Given the description of an element on the screen output the (x, y) to click on. 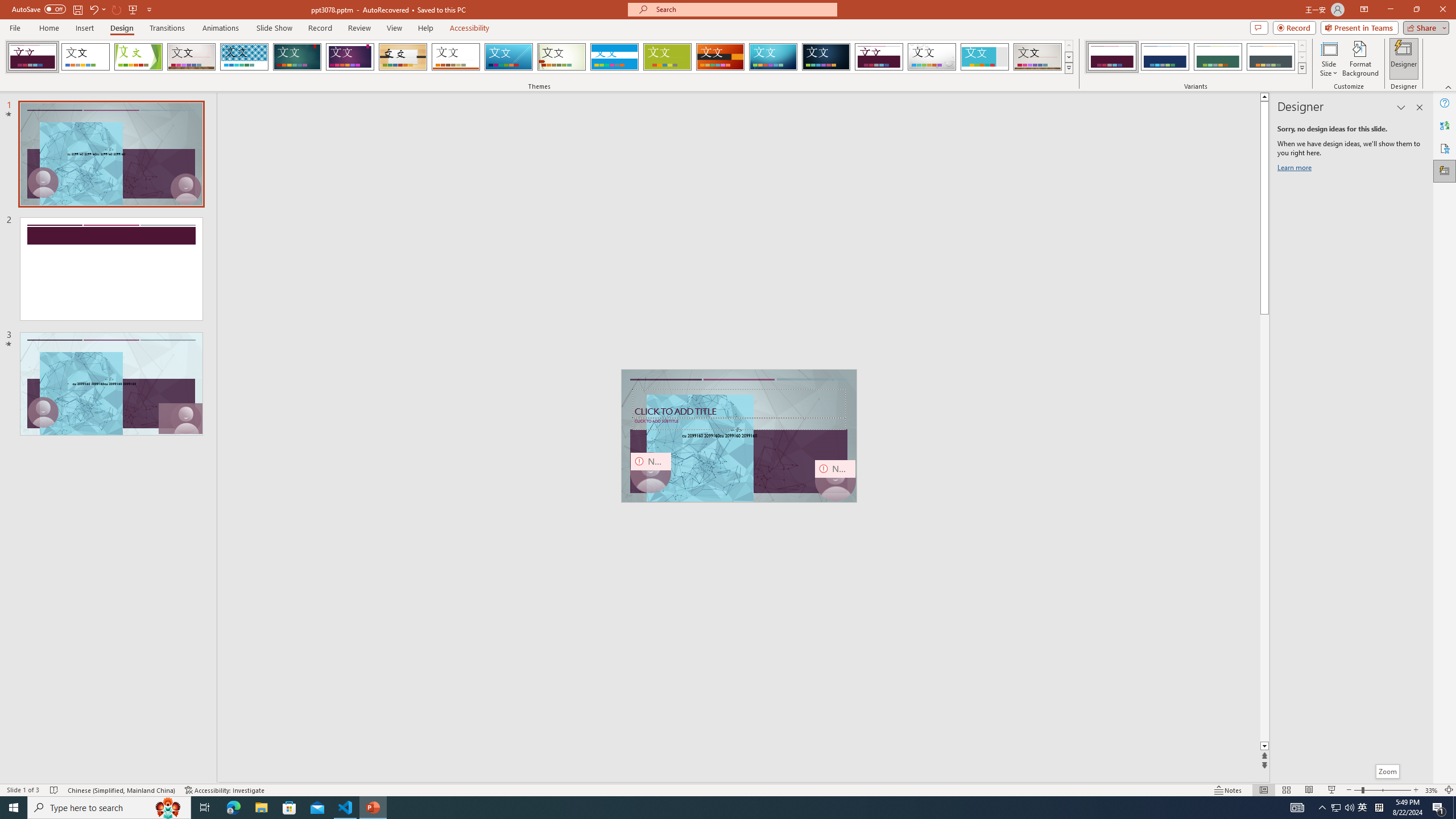
Office Theme (85, 56)
Camera 16, No camera detected. (834, 479)
Camera 9, No camera detected. (650, 472)
Slice (508, 56)
Ion Boardroom (350, 56)
